Given the description of an element on the screen output the (x, y) to click on. 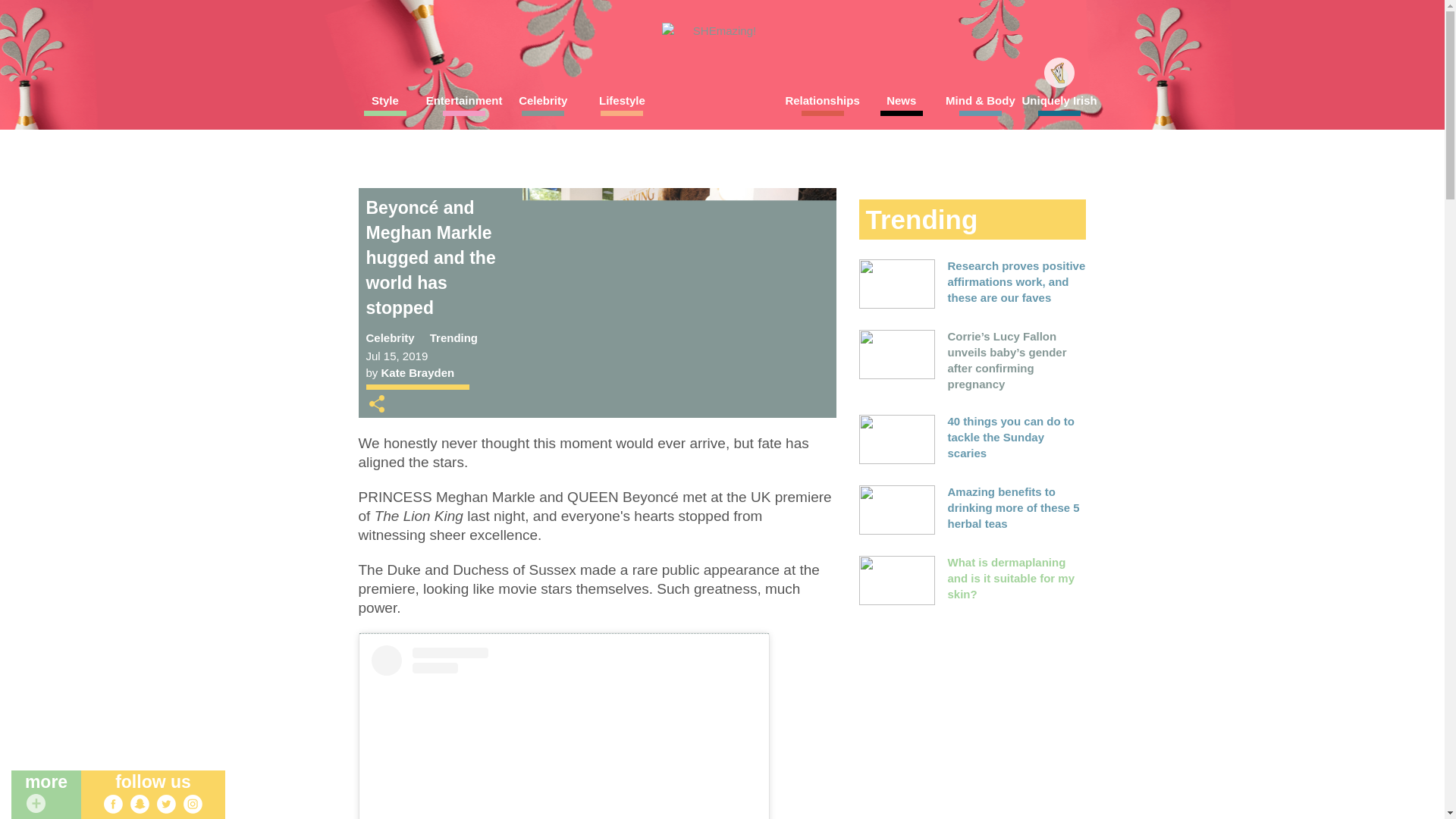
Style (385, 104)
Relationships (822, 104)
News (901, 104)
Entertainment (464, 104)
Lifestyle (621, 104)
SHEmazing! (717, 31)
Celebrity (542, 104)
